Given the description of an element on the screen output the (x, y) to click on. 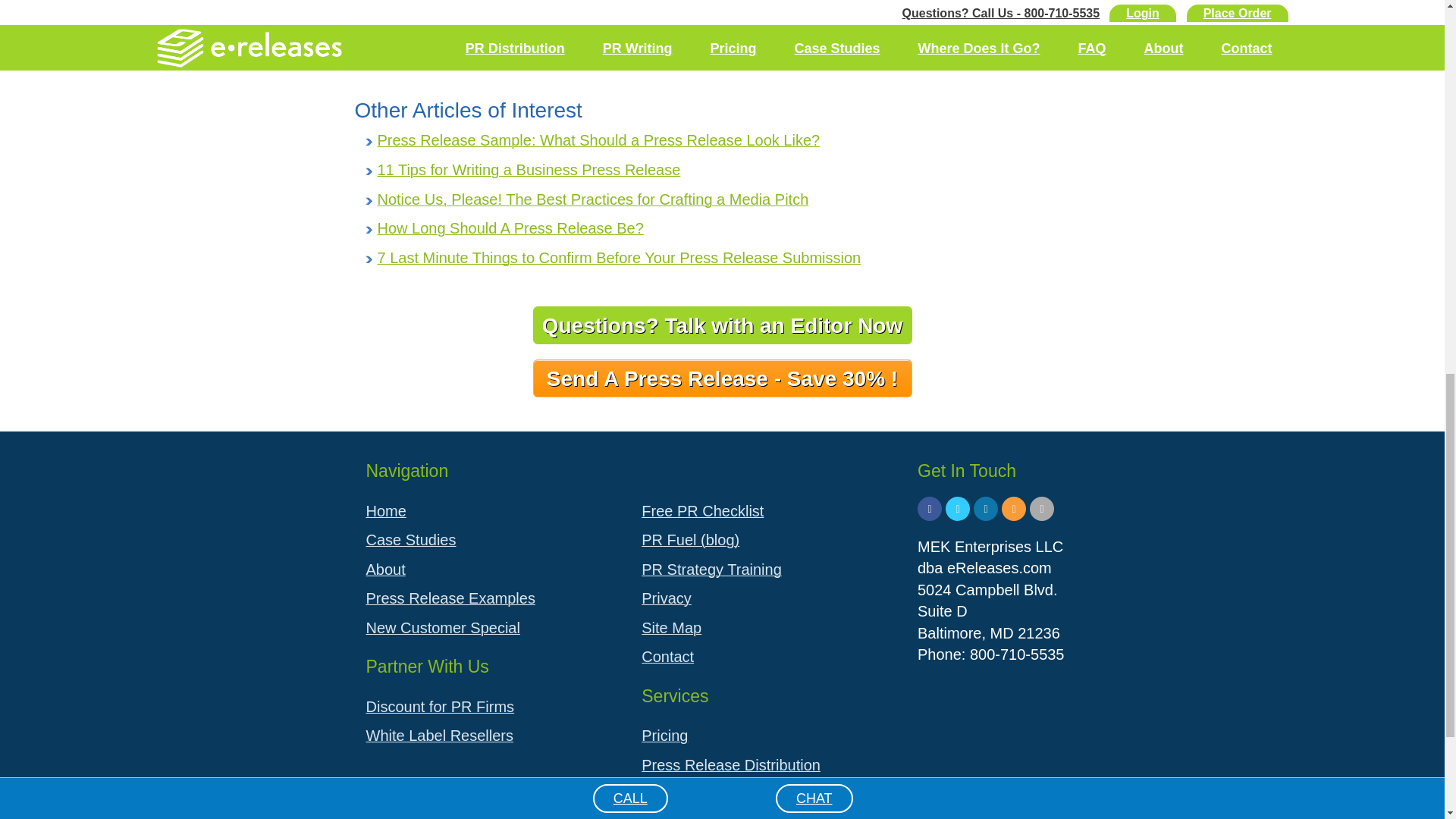
11 Tips for Writing a Business Press Release (529, 169)
New Customer Special (491, 627)
About (491, 569)
How Long Should A Press Release Be? (510, 228)
Press Release Sample: What Should a Press Release Look Like? (599, 139)
Case Studies (491, 540)
Press Release Examples (491, 598)
Questions? Talk with an Editor Now (721, 324)
